Given the description of an element on the screen output the (x, y) to click on. 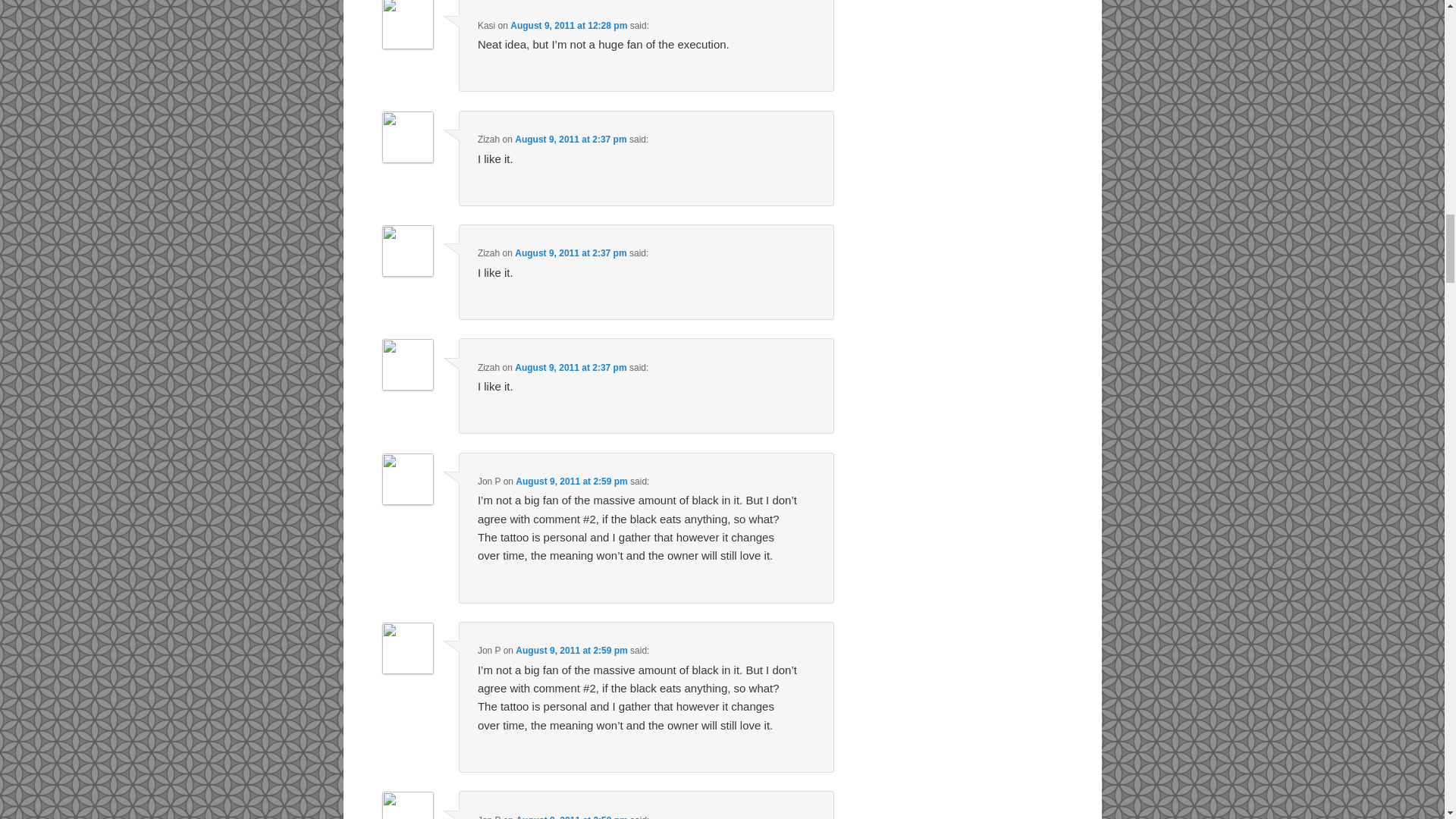
August 9, 2011 at 2:59 pm (571, 650)
August 9, 2011 at 2:37 pm (570, 253)
August 9, 2011 at 12:28 pm (569, 25)
August 9, 2011 at 2:37 pm (570, 367)
August 9, 2011 at 2:59 pm (571, 480)
August 9, 2011 at 2:59 pm (571, 816)
August 9, 2011 at 2:37 pm (570, 139)
